Given the description of an element on the screen output the (x, y) to click on. 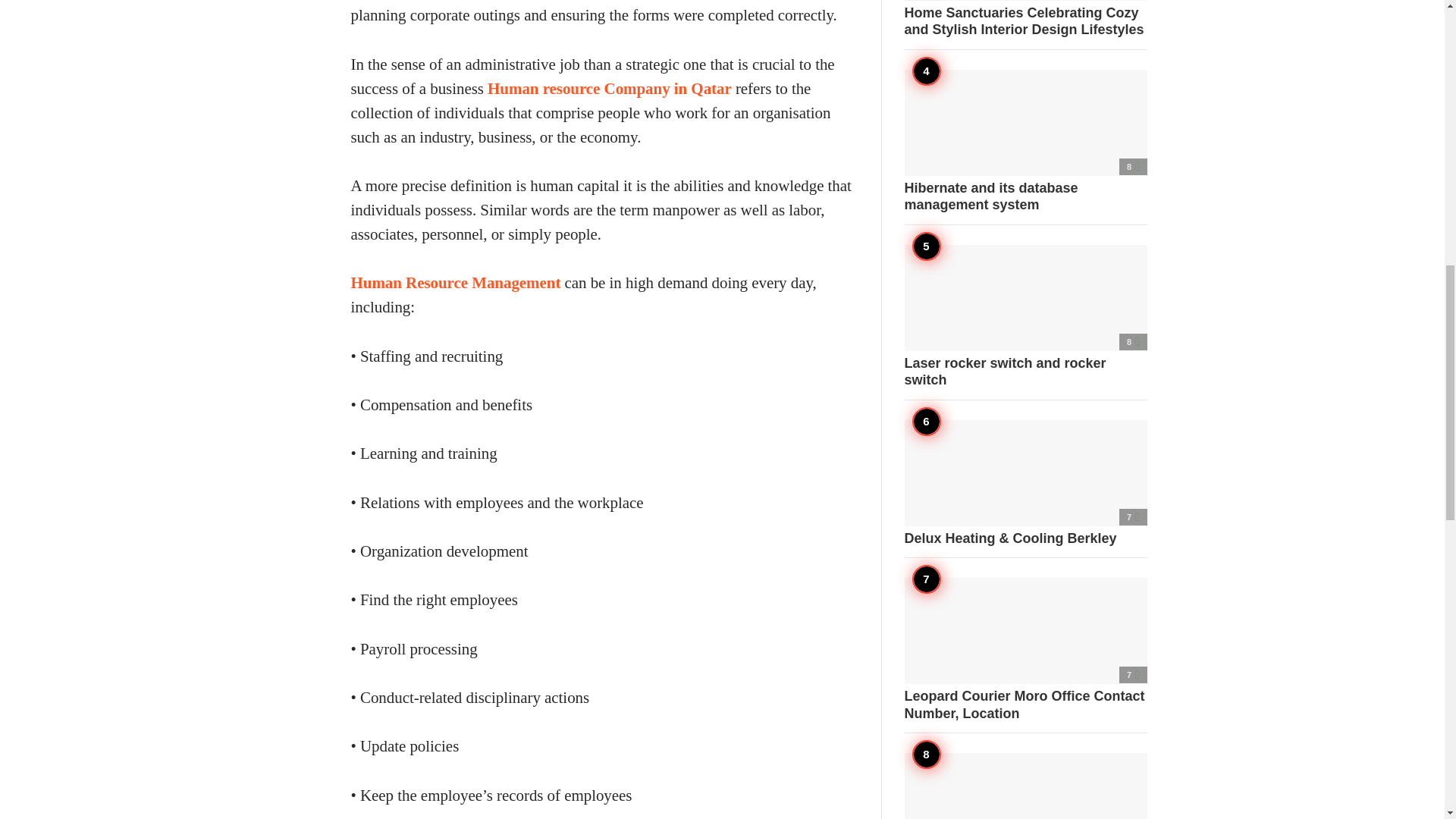
Laser rocker switch and rocker switch (1025, 316)
TCS Muridke Office Contact Number, Parcel Tracking, Helpline (1025, 785)
Hibernate and its database management system (1025, 141)
Leopard Courier Moro Office Contact Number, Location (1025, 649)
